Given the description of an element on the screen output the (x, y) to click on. 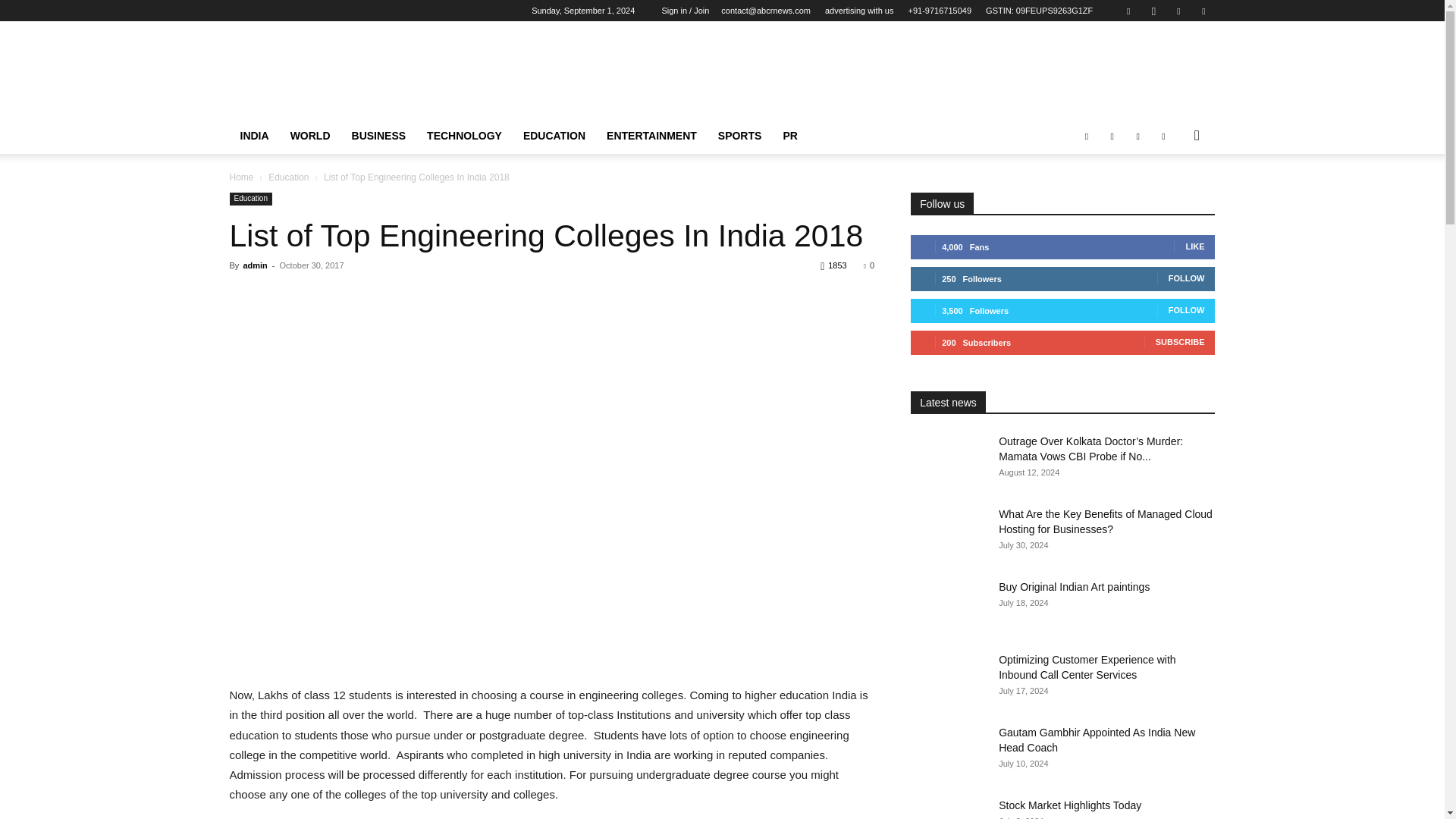
advertising with us (859, 10)
Instagram (1152, 10)
Facebook (1128, 10)
Linkedin (1178, 10)
Youtube (1203, 10)
GSTIN: 09FEUPS9263G1ZF (1039, 10)
INDIA (253, 135)
